Given the description of an element on the screen output the (x, y) to click on. 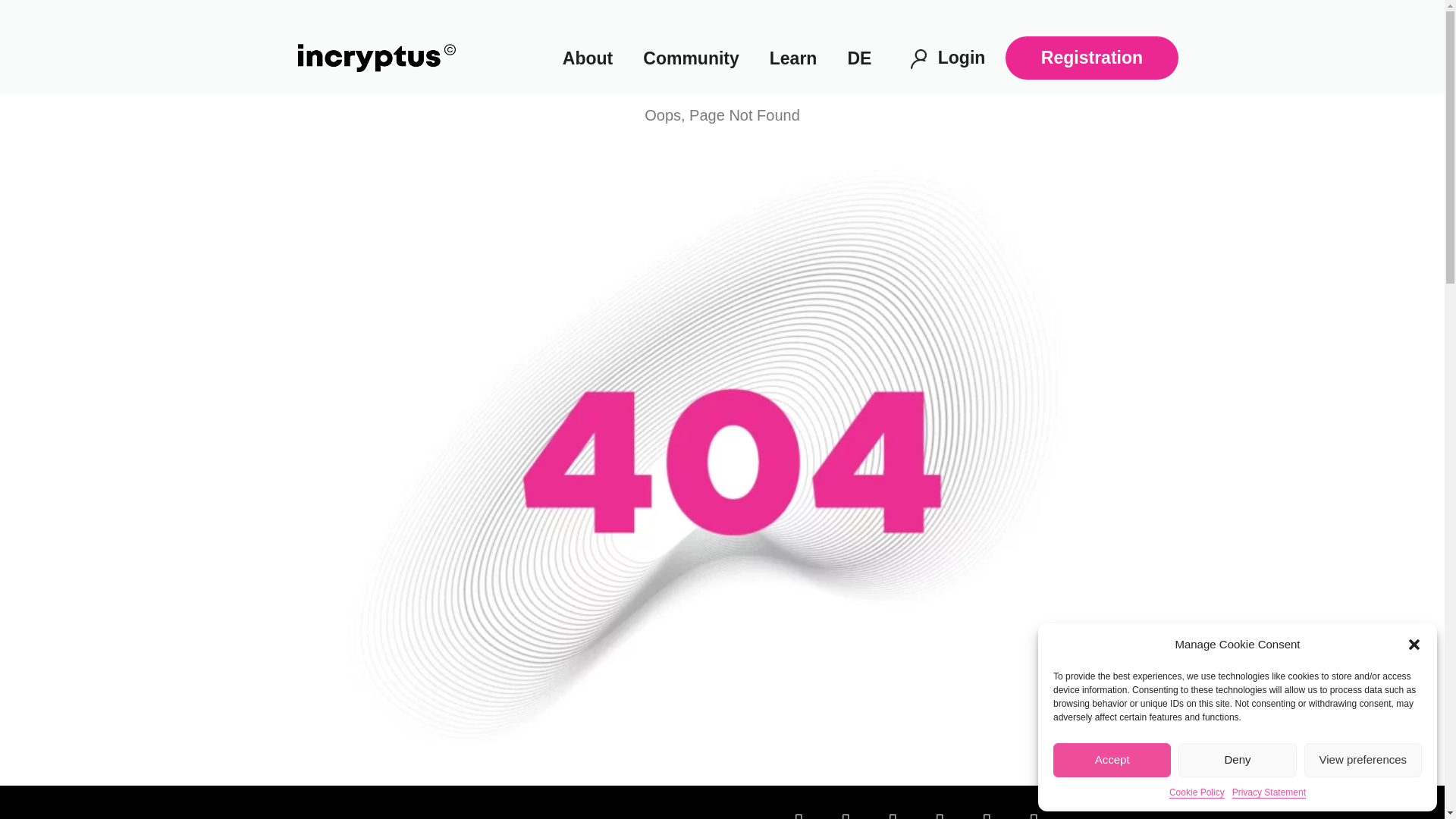
Registration (1091, 57)
Learn (793, 58)
Deutsch (858, 58)
Accept (1111, 759)
Privacy Statement (1268, 792)
View preferences (1363, 759)
Deny (1236, 759)
Login (961, 57)
About (587, 58)
DE (858, 58)
Community (690, 58)
Cookie Policy (1196, 792)
